Given the description of an element on the screen output the (x, y) to click on. 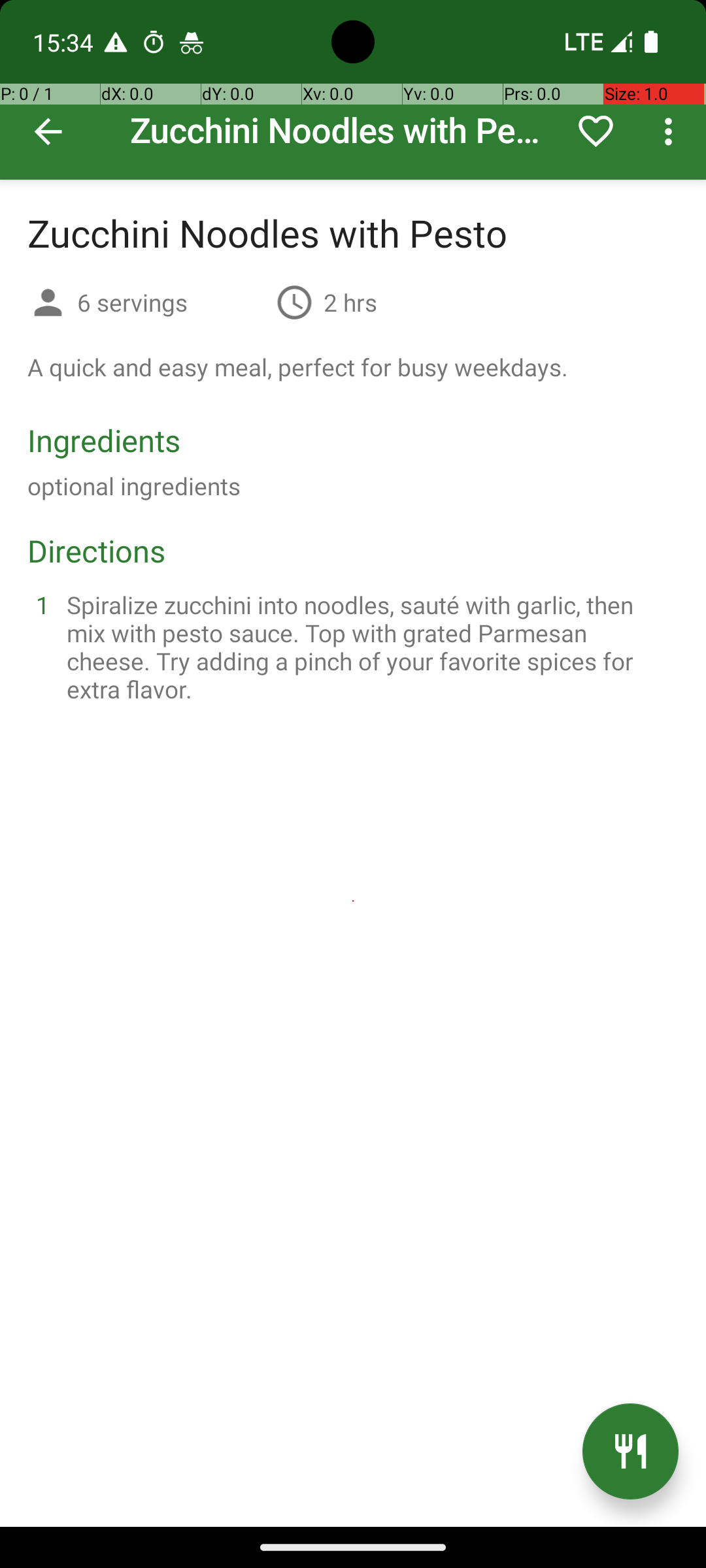
Zucchini Noodles with Pesto Element type: android.widget.FrameLayout (353, 89)
2 hrs Element type: android.widget.TextView (350, 301)
optional ingredients Element type: android.widget.TextView (133, 485)
Spiralize zucchini into noodles, sauté with garlic, then mix with pesto sauce. Top with grated Parmesan cheese. Try adding a pinch of your favorite spices for extra flavor. Element type: android.widget.TextView (368, 646)
